Given the description of an element on the screen output the (x, y) to click on. 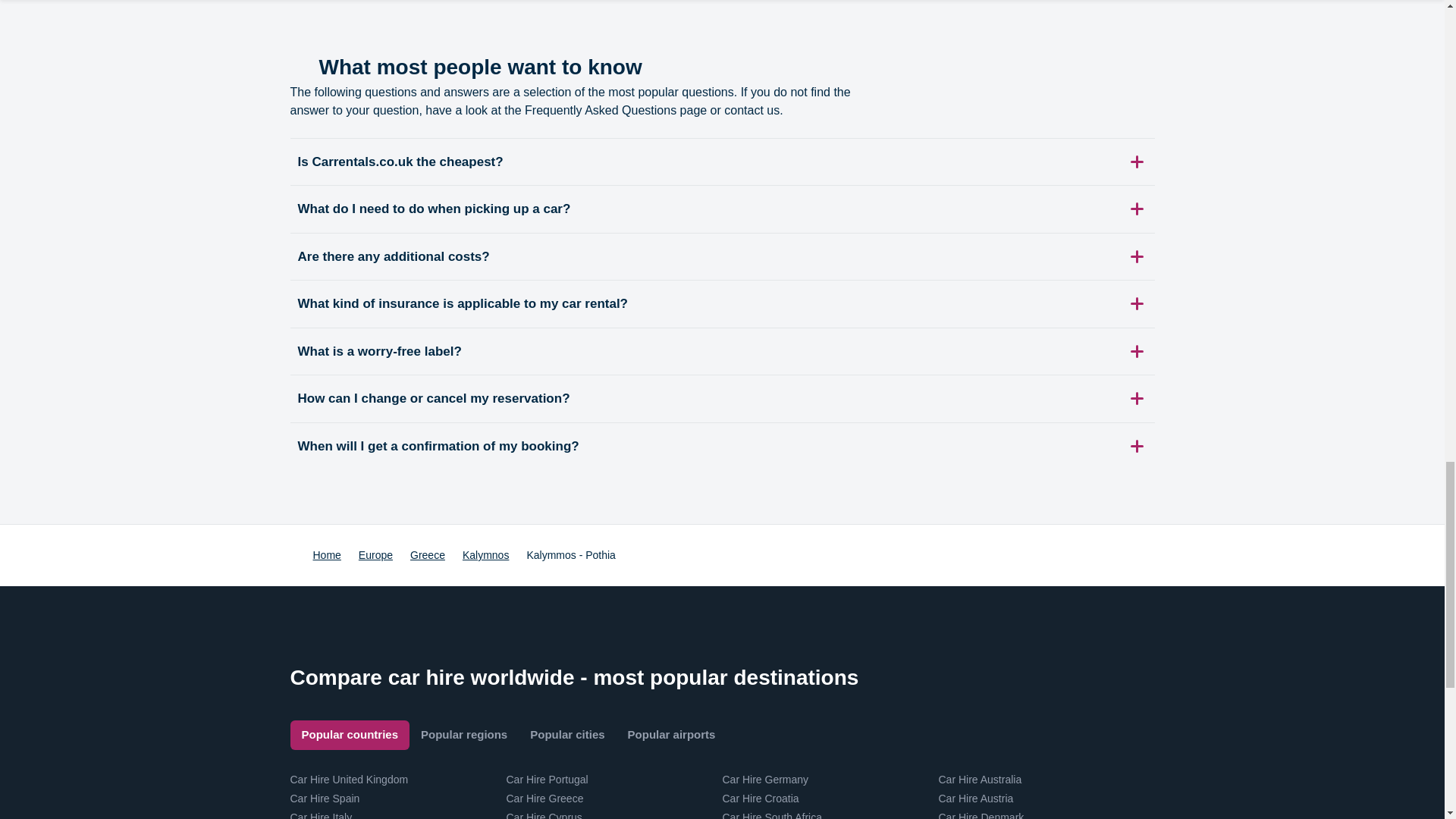
Car Hire Cyprus (544, 815)
Car Hire Italy (320, 815)
Greece (427, 555)
Car Hire Greece (544, 797)
Car Hire Portugal (547, 779)
Car Hire Germany (765, 779)
Home (326, 555)
Europe (375, 555)
Kalymnos (485, 555)
Car Hire Spain (324, 797)
Car Hire United Kingdom (348, 779)
Car Hire Croatia (759, 797)
